Given the description of an element on the screen output the (x, y) to click on. 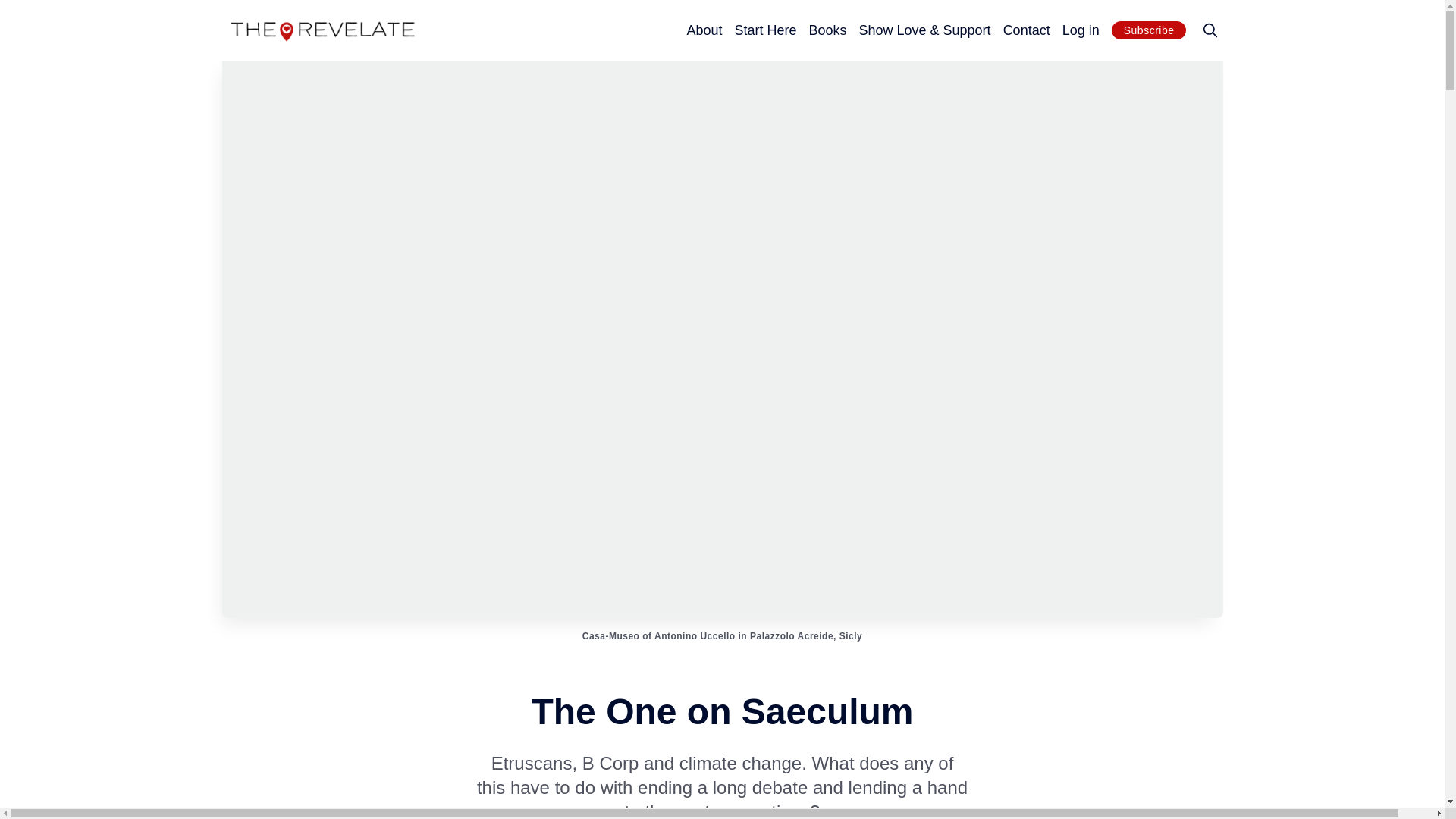
Start Here (764, 30)
Books (826, 30)
Log in (1080, 30)
About (703, 30)
Subscribe (1149, 30)
Contact (1026, 30)
